Given the description of an element on the screen output the (x, y) to click on. 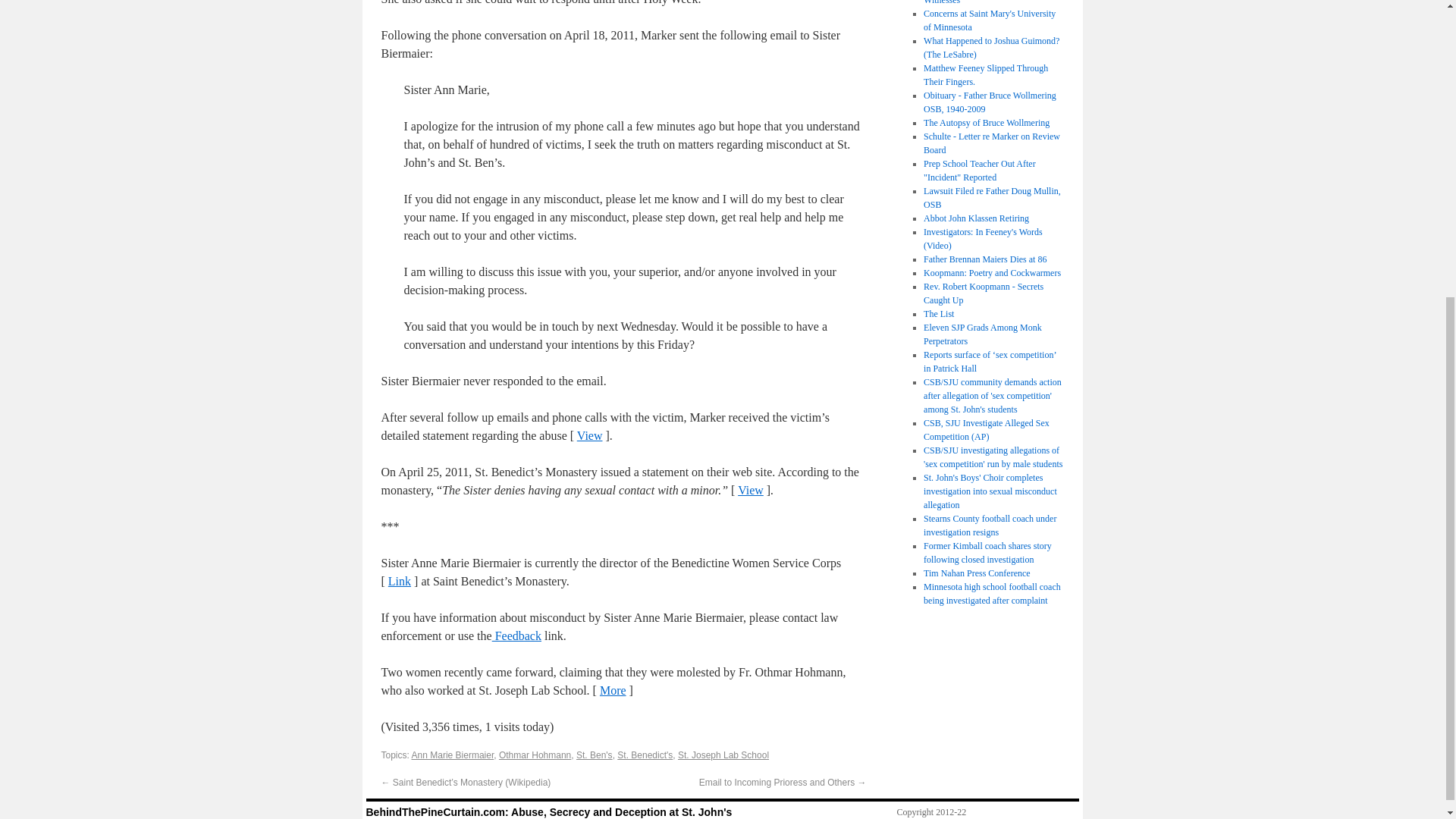
Schulte - Letter re Marker on Review Board (991, 143)
View (750, 490)
BehindThePineCurtain.com (548, 811)
Link (399, 581)
The Autopsy of Bruce Wollmering (986, 122)
Feedback (516, 635)
Ann Marie Biermaier (453, 755)
St. Joseph Lab School (723, 755)
St. Benedict's (644, 755)
SCSO Report Different Than Seven Witnesses (988, 2)
